Given the description of an element on the screen output the (x, y) to click on. 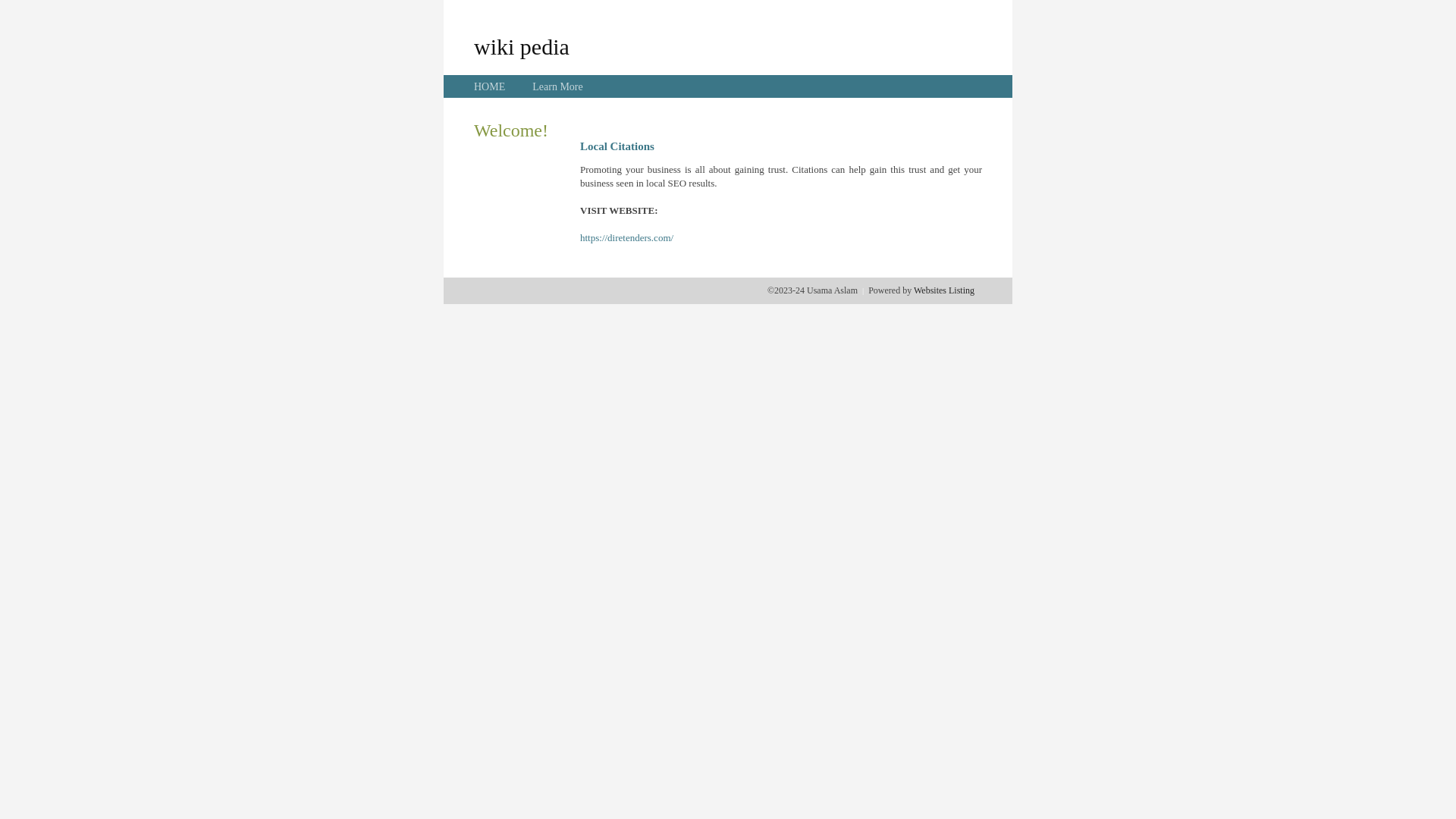
wiki pedia Element type: text (521, 46)
Websites Listing Element type: text (943, 290)
https://diretenders.com/ Element type: text (626, 237)
HOME Element type: text (489, 86)
Learn More Element type: text (557, 86)
